Given the description of an element on the screen output the (x, y) to click on. 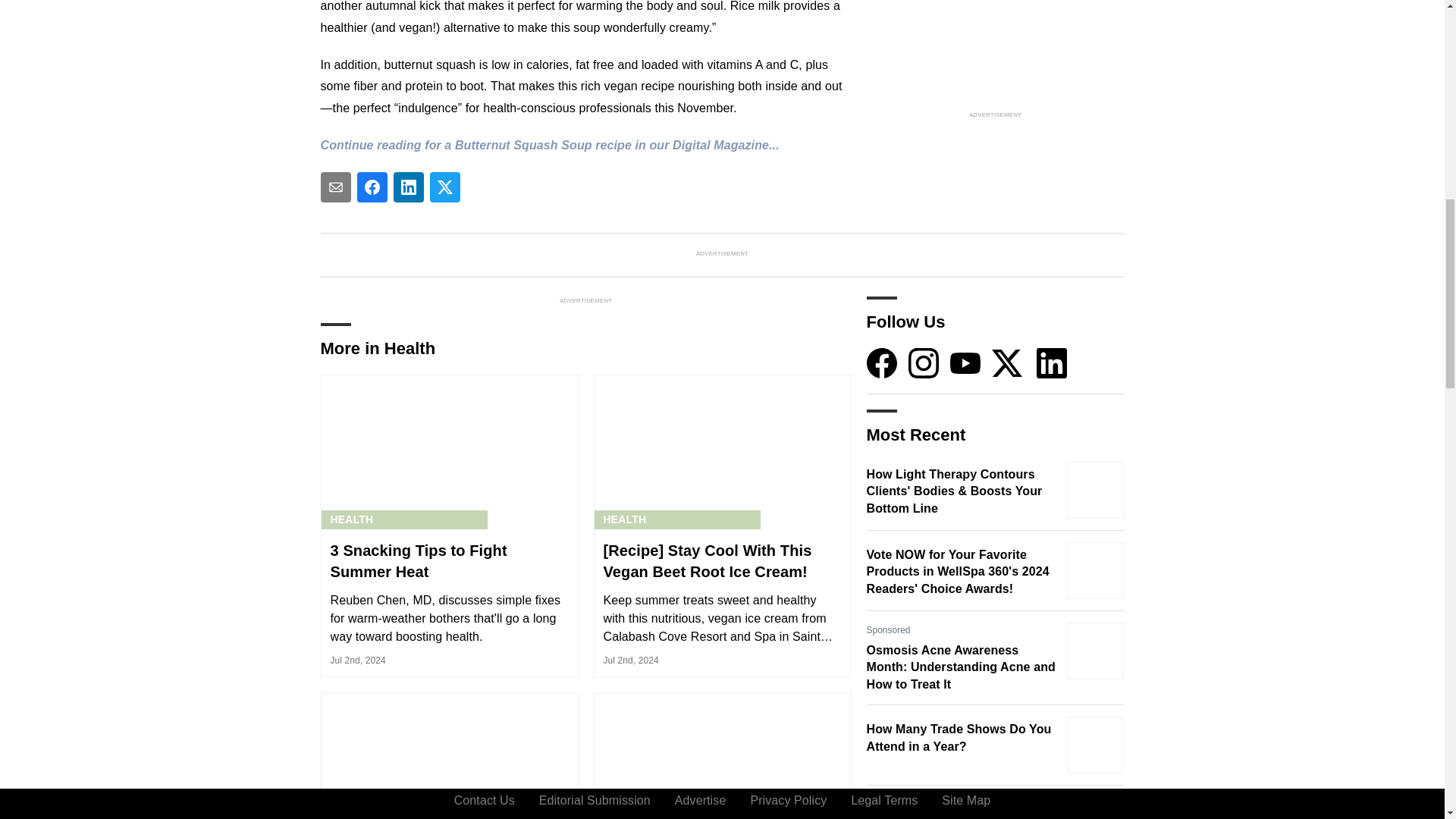
LinkedIn icon (1051, 363)
YouTube icon (964, 363)
Instagram icon (923, 363)
Share To facebook (371, 186)
Share To linkedin (408, 186)
Share To twitter (444, 186)
Facebook icon (881, 363)
Share To email (335, 186)
Twitter X icon (1006, 363)
